Given the description of an element on the screen output the (x, y) to click on. 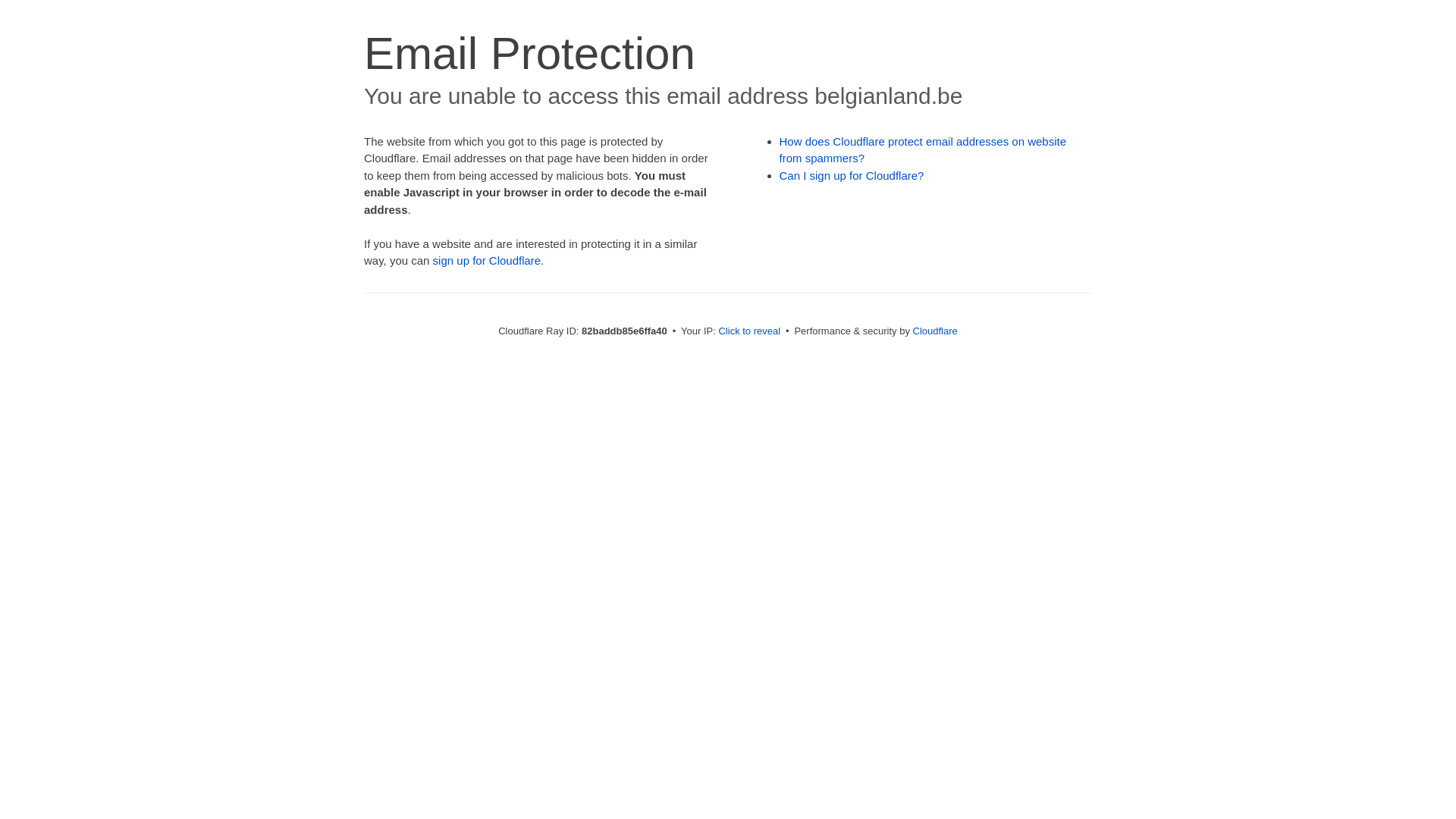
Cloudflare Element type: text (935, 330)
Click to reveal Element type: text (749, 330)
sign up for Cloudflare Element type: text (487, 260)
Can I sign up for Cloudflare? Element type: text (851, 175)
